Given the description of an element on the screen output the (x, y) to click on. 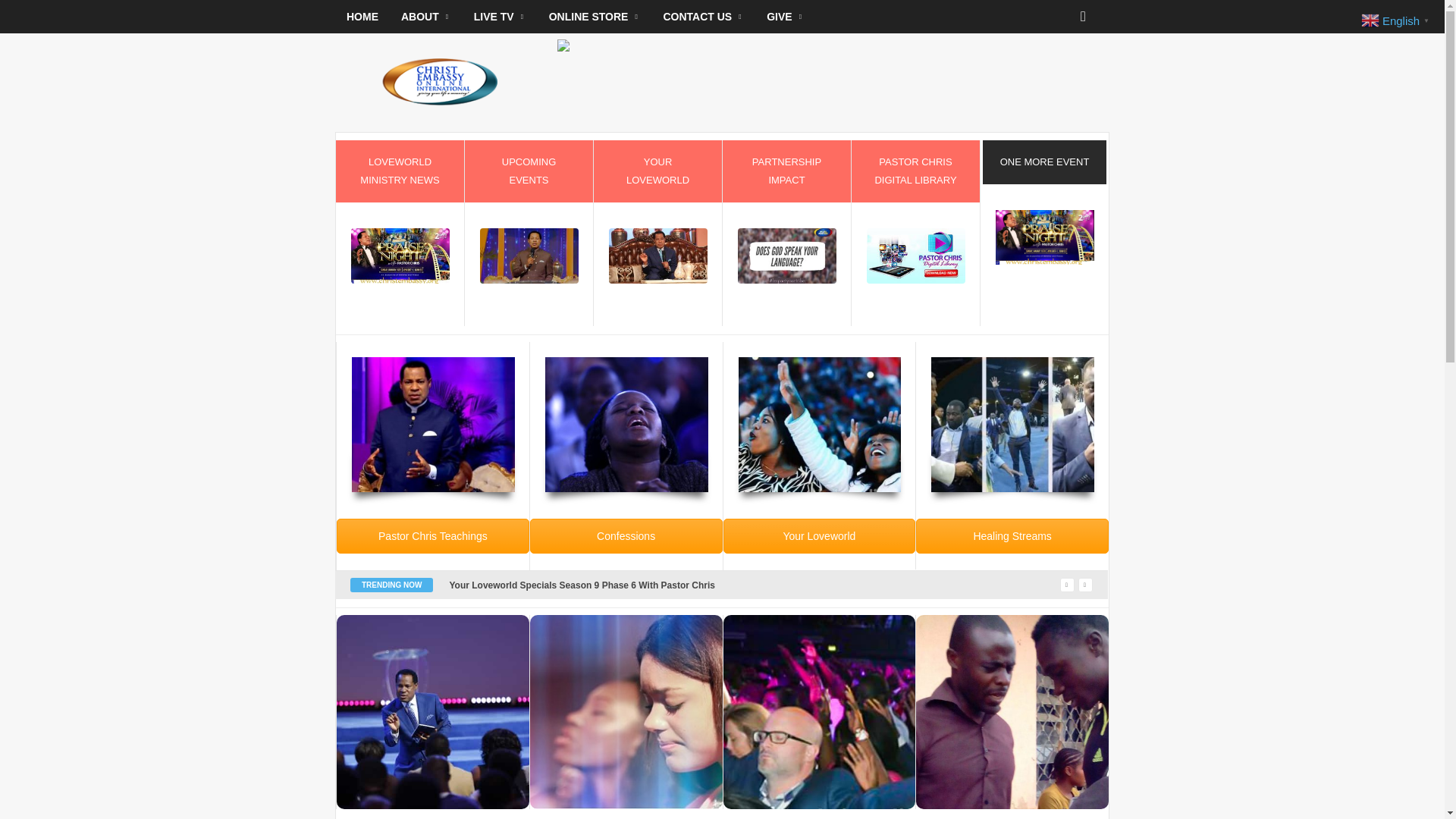
hs-min2 (1012, 424)
PCDL APPs (915, 255)
HOME (362, 16)
A Key To Victorious Living -min (819, 424)
CONTACT US (702, 16)
hfy (625, 424)
Pastor (657, 255)
Pastor (433, 424)
ABOUT (426, 16)
image7282908992252601033-min (786, 255)
Your Loveworld Specials Season 9 Phase 6 With Pastor Chris (581, 584)
LIVE TV (500, 16)
ONLINE STORE (594, 16)
pastorC (529, 255)
